Given the description of an element on the screen output the (x, y) to click on. 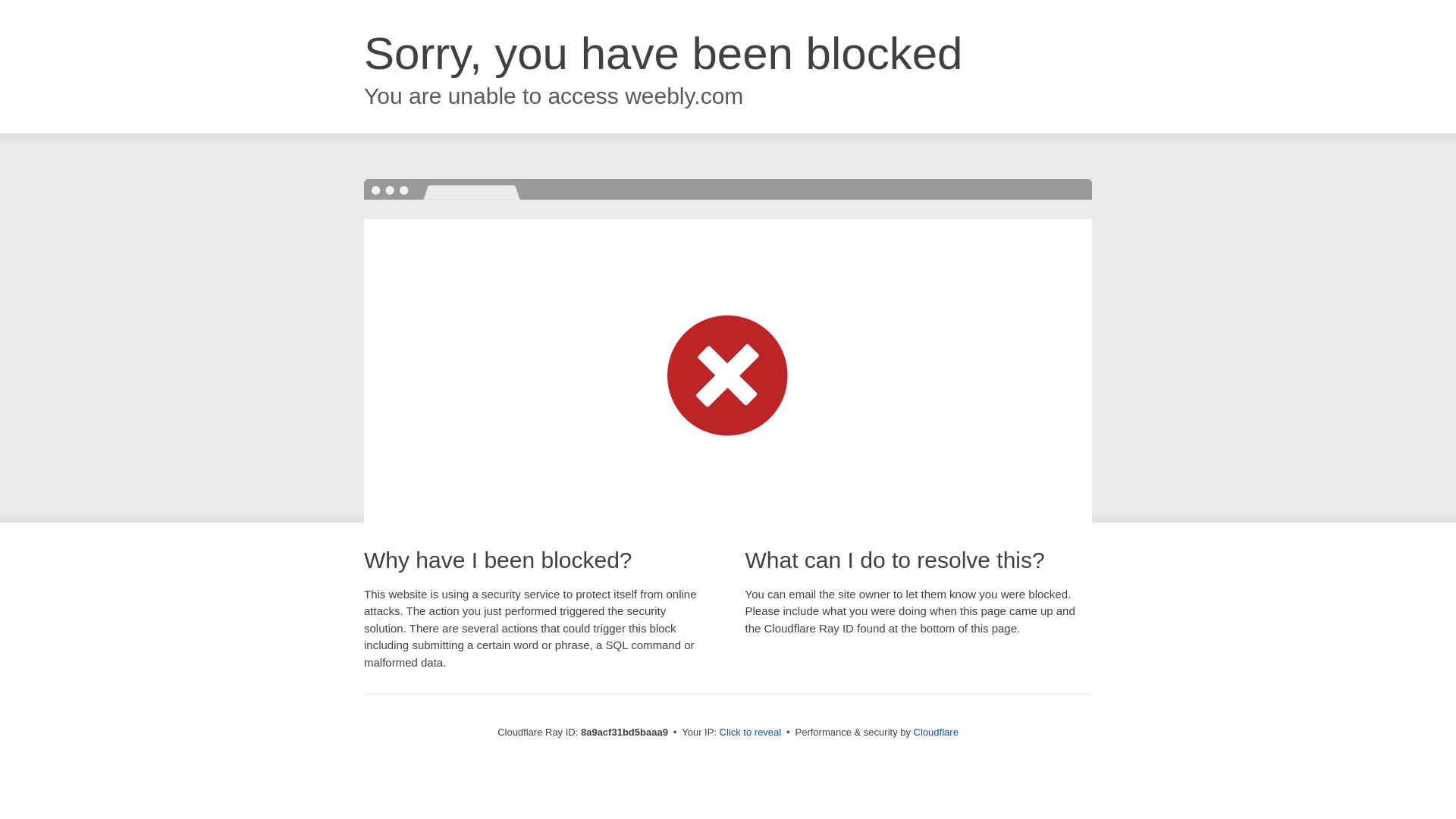
Click to reveal (750, 732)
Cloudflare (936, 731)
